Given the description of an element on the screen output the (x, y) to click on. 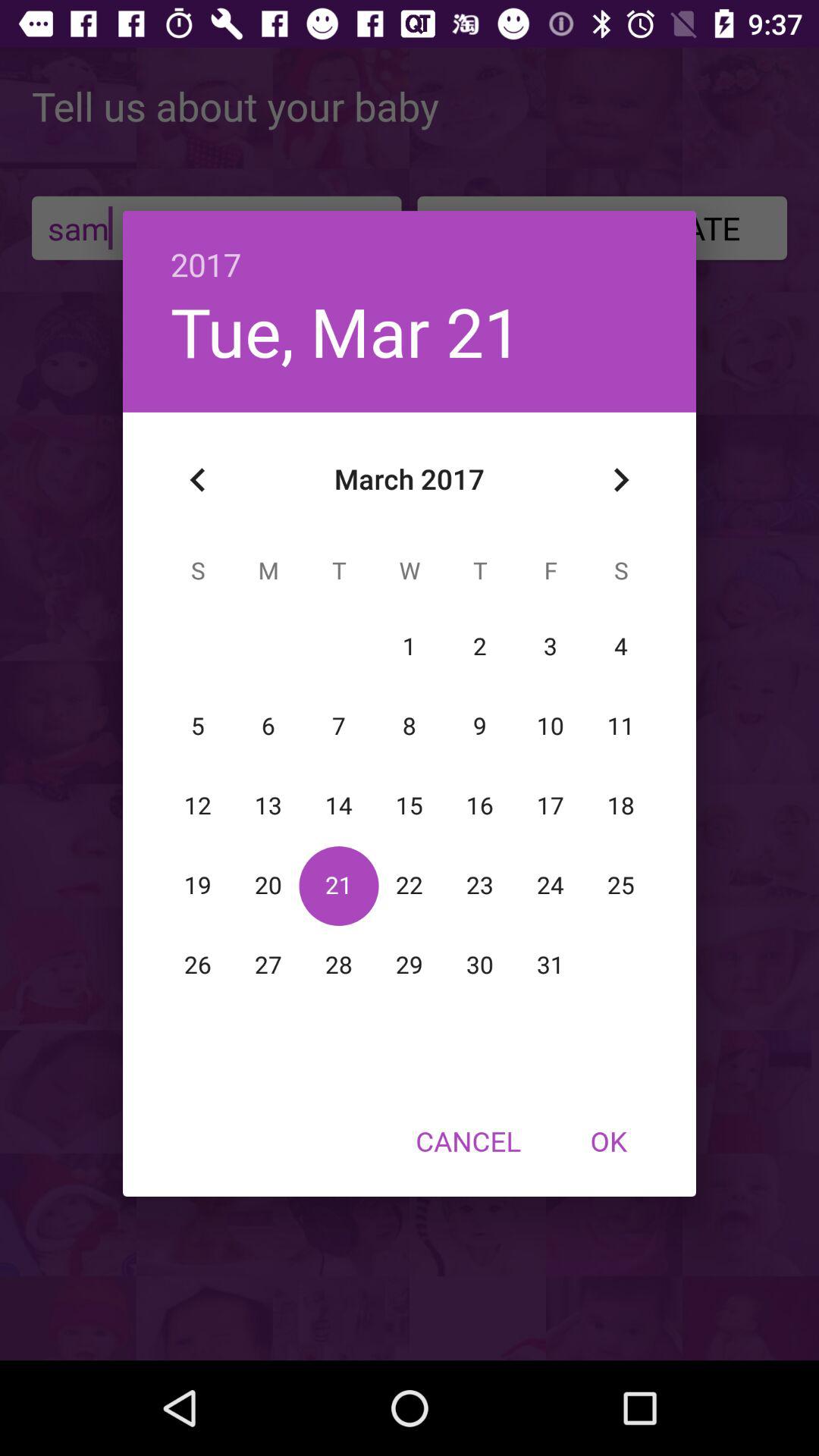
press the icon below tue, mar 21 icon (197, 479)
